Given the description of an element on the screen output the (x, y) to click on. 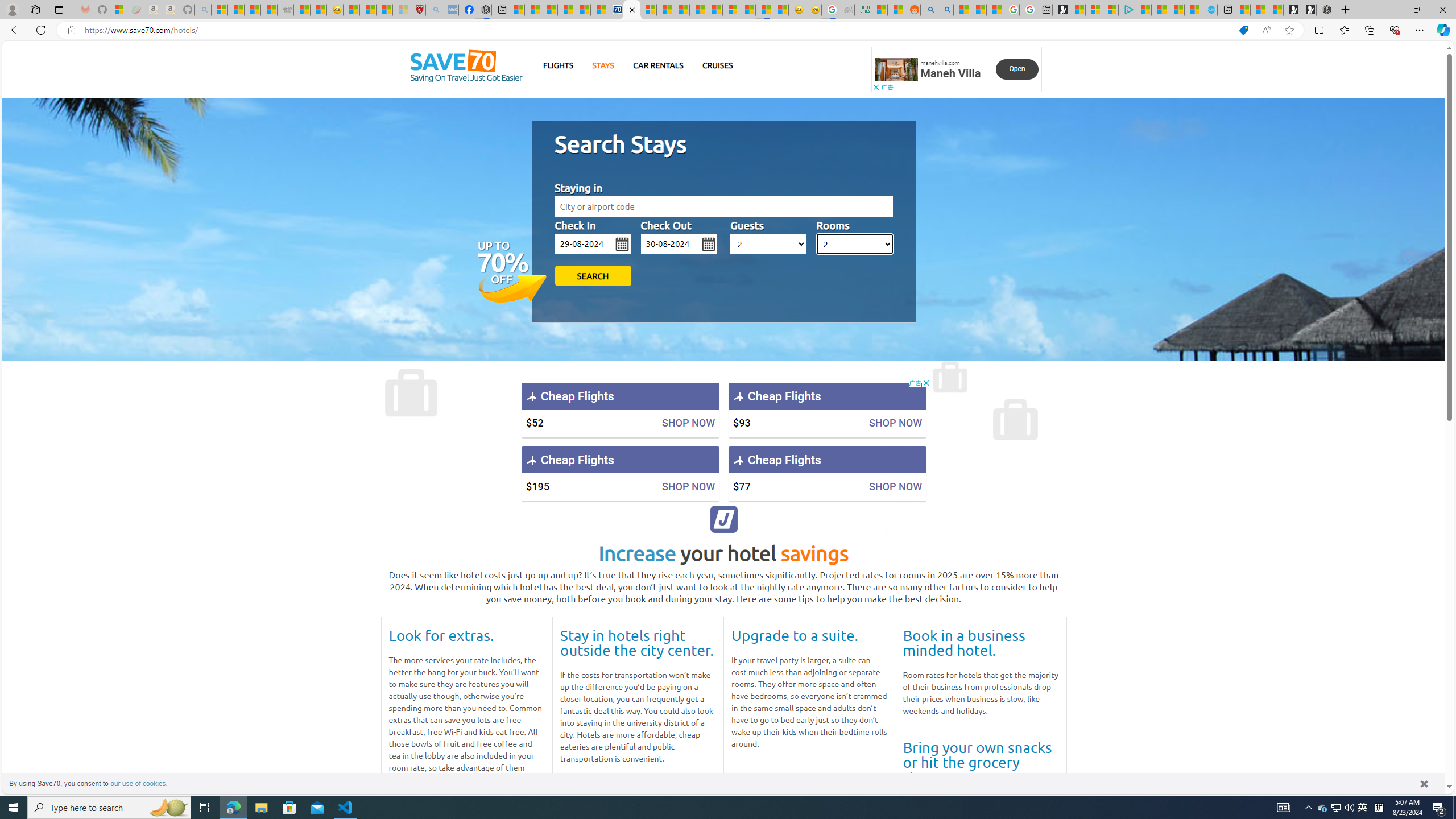
Class: ns-pn6gp-e-16 svg-anchor (896, 69)
Class: ns-aianb-e-47 svg-anchor (724, 519)
mm/dd/yy (678, 243)
Cheap Hotels - Save70.com (631, 9)
AutomationID: hotels_passengers (768, 243)
Utah sues federal government - Search (944, 9)
12 Popular Science Lies that Must be Corrected - Sleeping (400, 9)
SEARCH (592, 275)
